Given the description of an element on the screen output the (x, y) to click on. 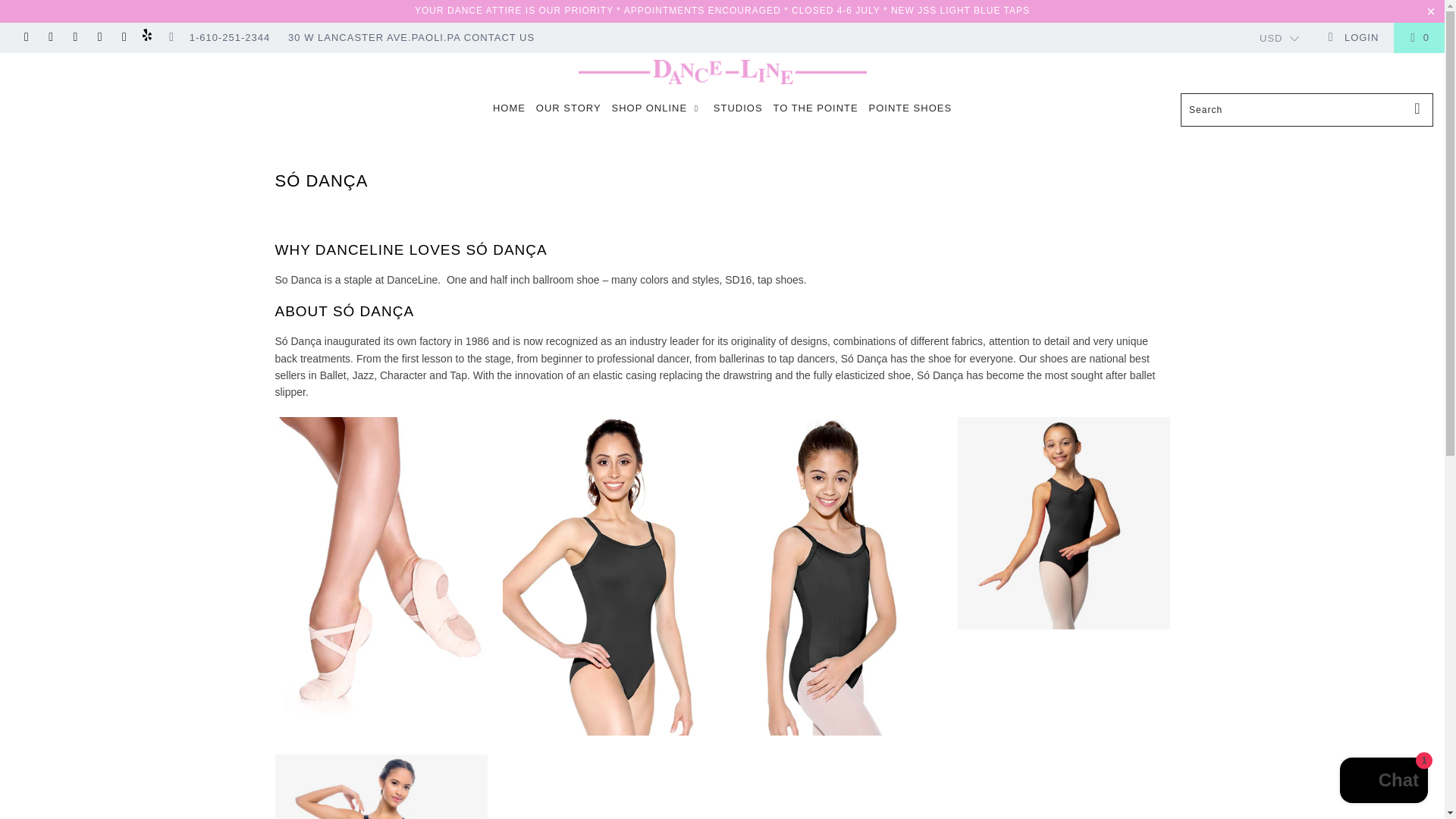
DanceLine on Instagram (123, 37)
DanceLine on Pinterest (99, 37)
DanceLine on YouTube (74, 37)
DanceLine on yelp (146, 37)
Email DanceLine (170, 37)
DanceLine on Twitter (25, 37)
DanceLine on Facebook (49, 37)
Schedule an Appointment (702, 9)
My Account  (1352, 37)
